Given the description of an element on the screen output the (x, y) to click on. 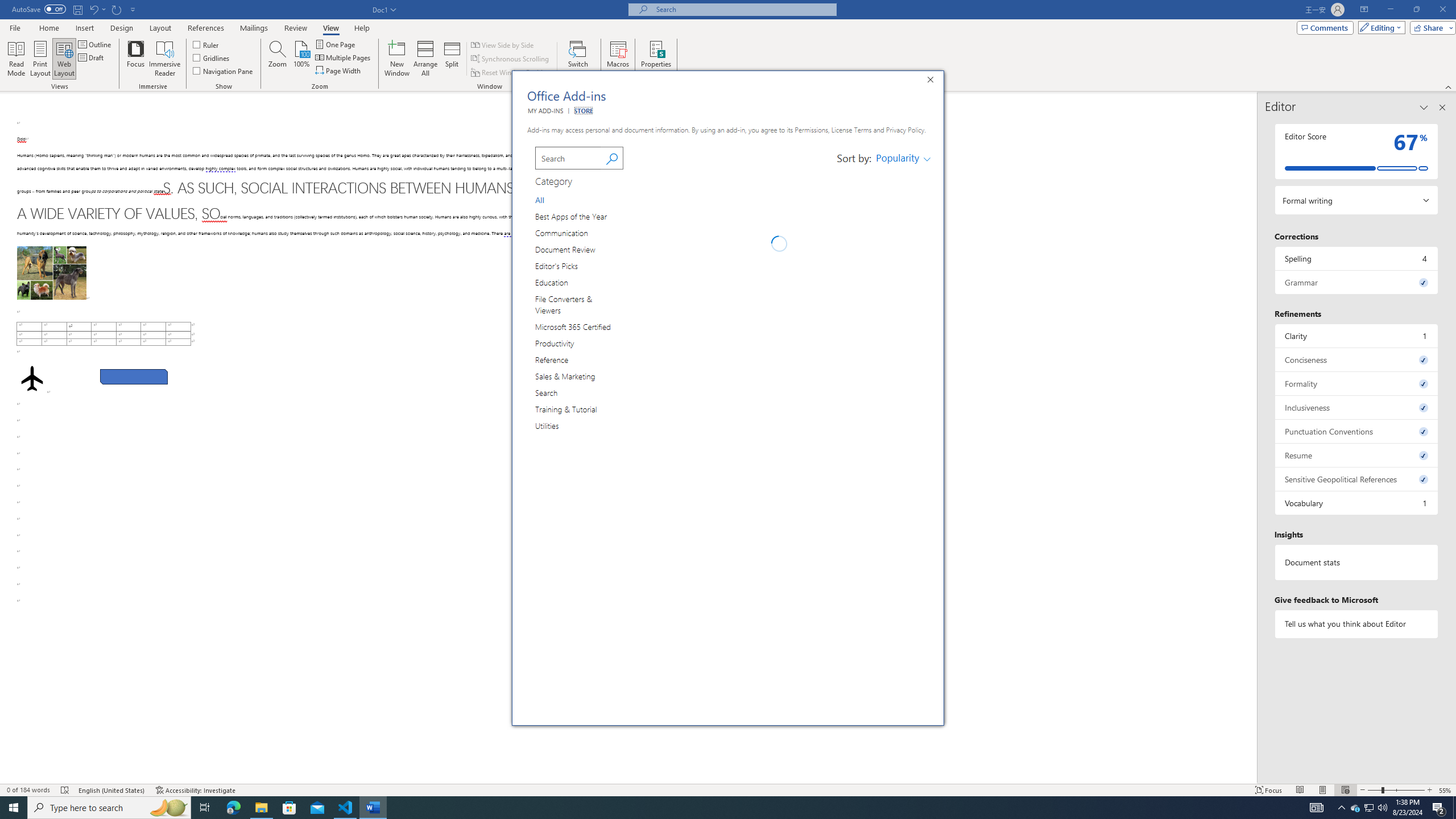
Multiple Pages (343, 56)
New Window (396, 58)
Arrange All (425, 58)
Immersive Reader (165, 58)
Category Group Training & Tutorial 13 of 14 (568, 408)
